Given the description of an element on the screen output the (x, y) to click on. 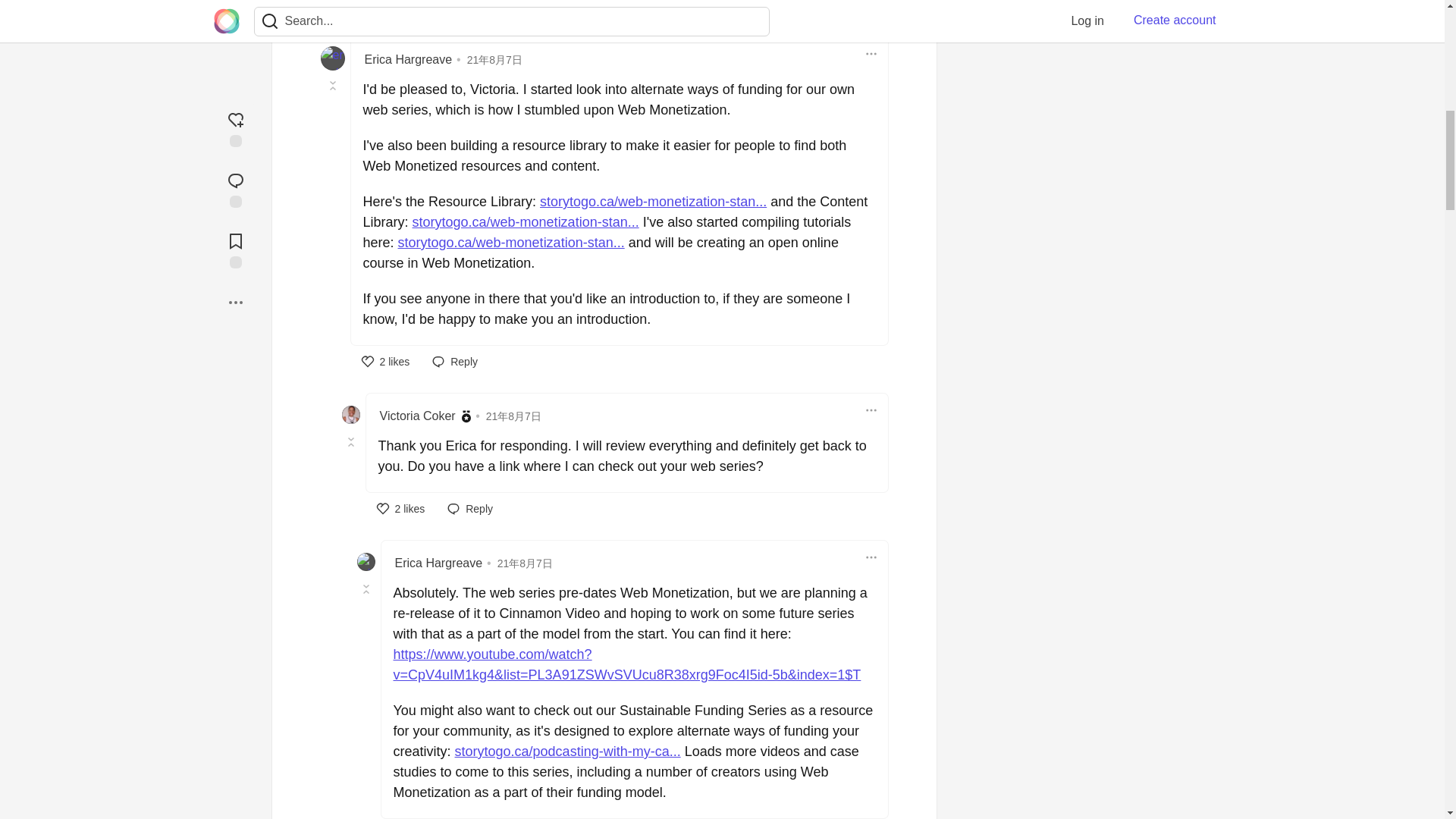
Erica Hargreave (408, 59)
Victoria Coker (400, 508)
Dropdown menu (385, 361)
Dropdown menu (417, 415)
Dropdown menu (870, 54)
Reply (870, 556)
Reply (870, 410)
Dropdown menu (470, 508)
Dropdown menu (454, 361)
Erica Hargreave (871, 53)
